Given the description of an element on the screen output the (x, y) to click on. 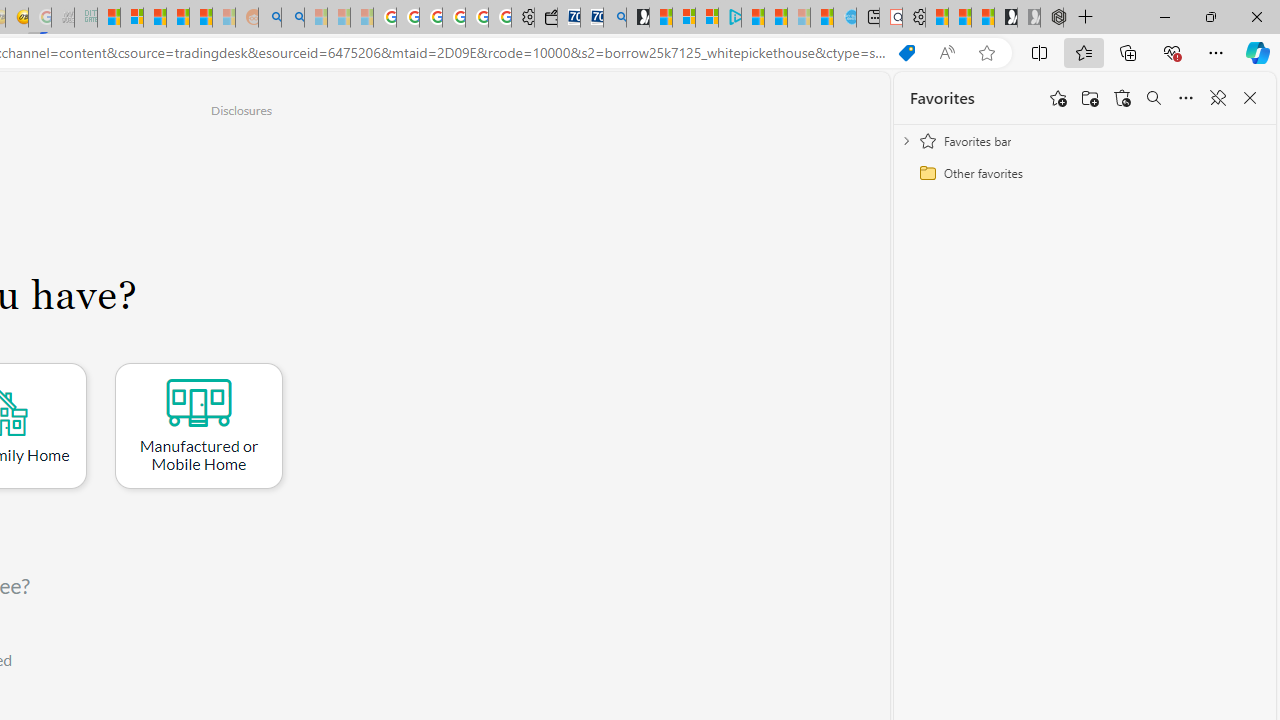
Close favorites (1250, 98)
Add folder (1089, 98)
MSNBC - MSN (109, 17)
Unpin favorites (1217, 98)
Microsoft Start Gaming (637, 17)
Play Free Online Games | Games from Microsoft Start (1005, 17)
More options (1186, 98)
